Given the description of an element on the screen output the (x, y) to click on. 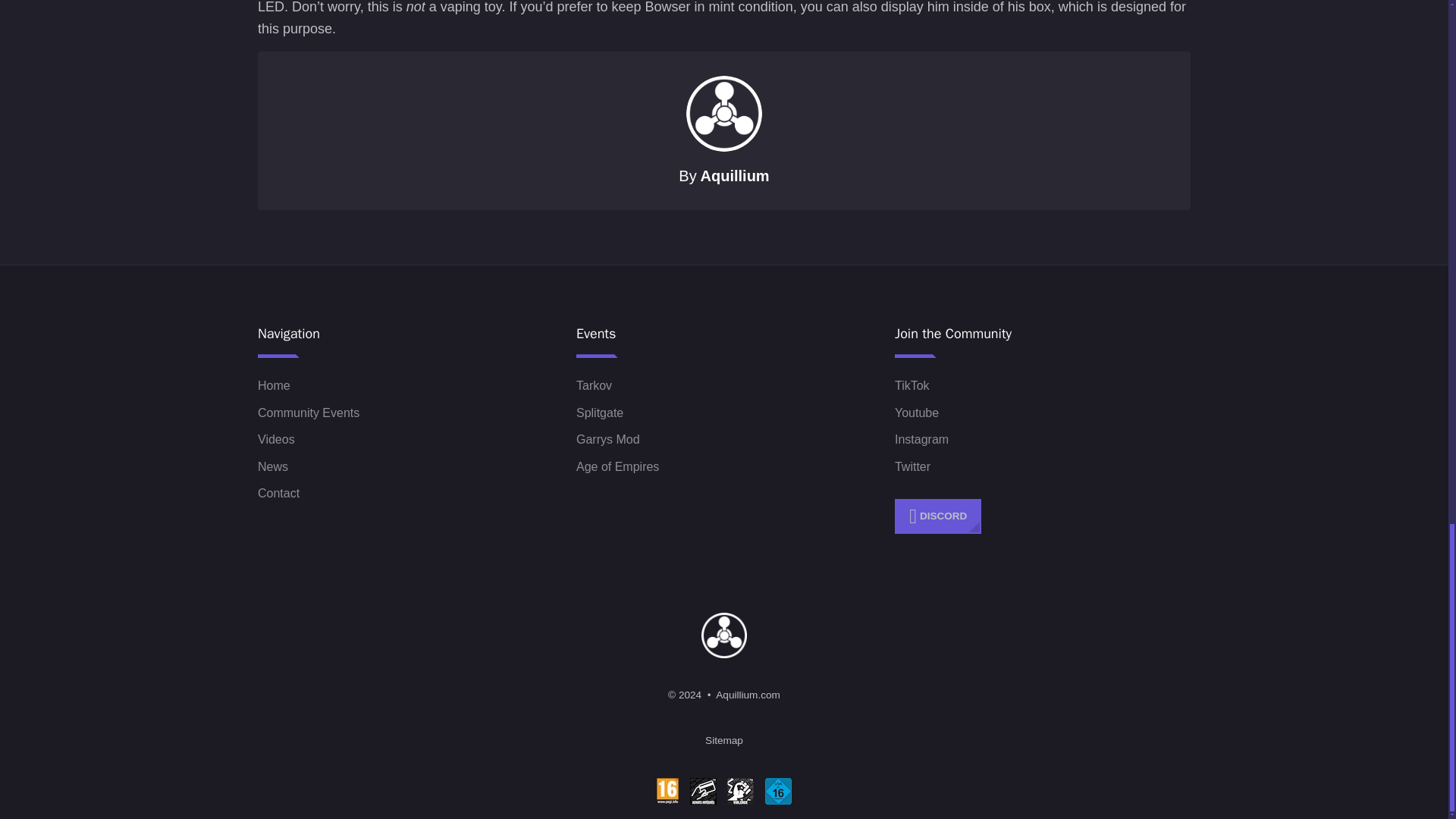
Videos (276, 439)
Age of Empires (617, 466)
Splitgate (599, 413)
News (272, 466)
Twitter (912, 466)
Garrys Mod (608, 439)
Instagram (922, 439)
Home (273, 386)
Sitemap (723, 740)
Tarkov (593, 386)
Youtube (917, 413)
DISCORD (938, 516)
Community Events (308, 413)
TikTok (912, 386)
Contact (278, 493)
